Given the description of an element on the screen output the (x, y) to click on. 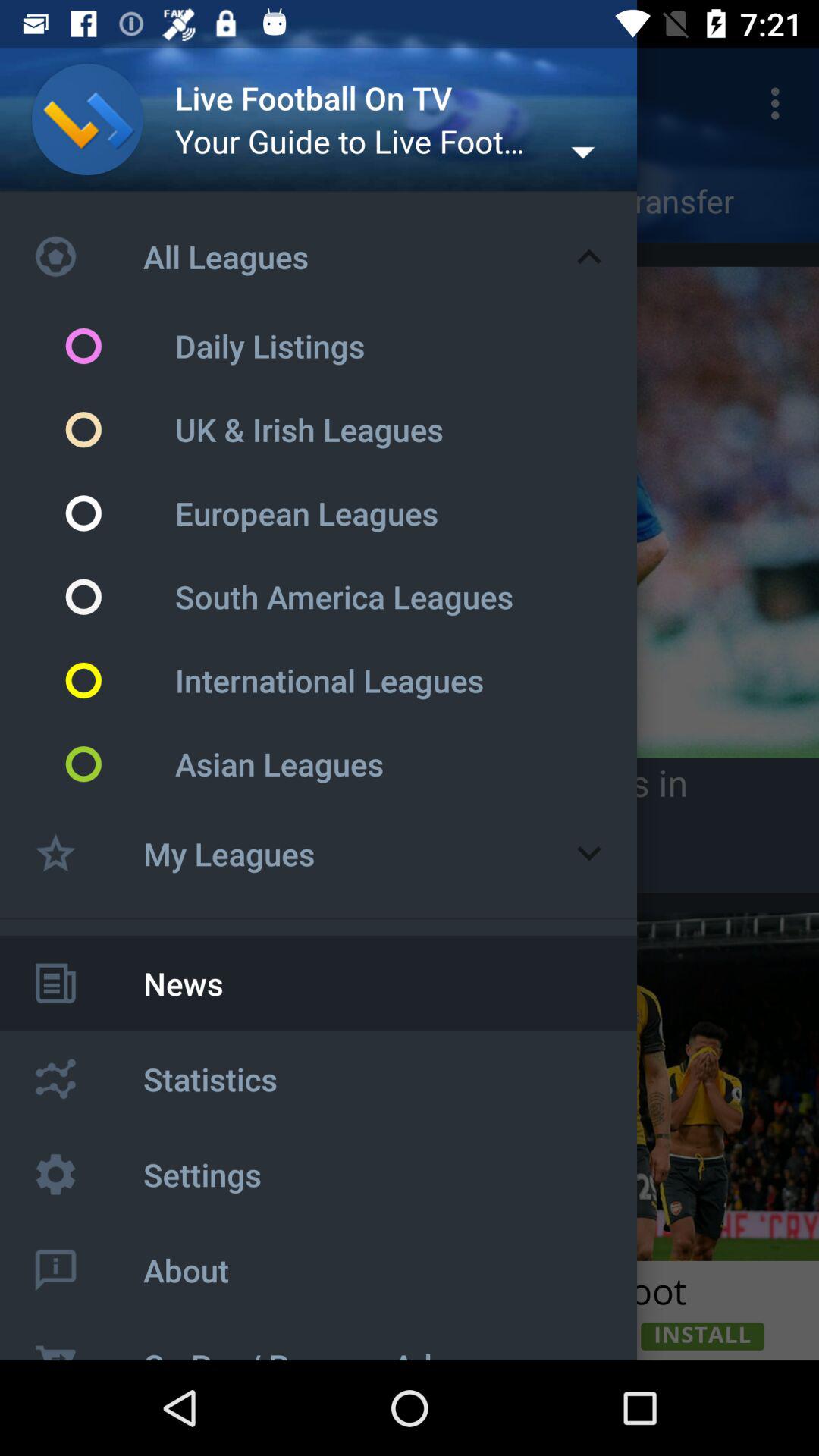
select the circle near asian leagues (119, 764)
select the check box of south america leagues (119, 596)
click on third radio button from top (119, 512)
